Given the description of an element on the screen output the (x, y) to click on. 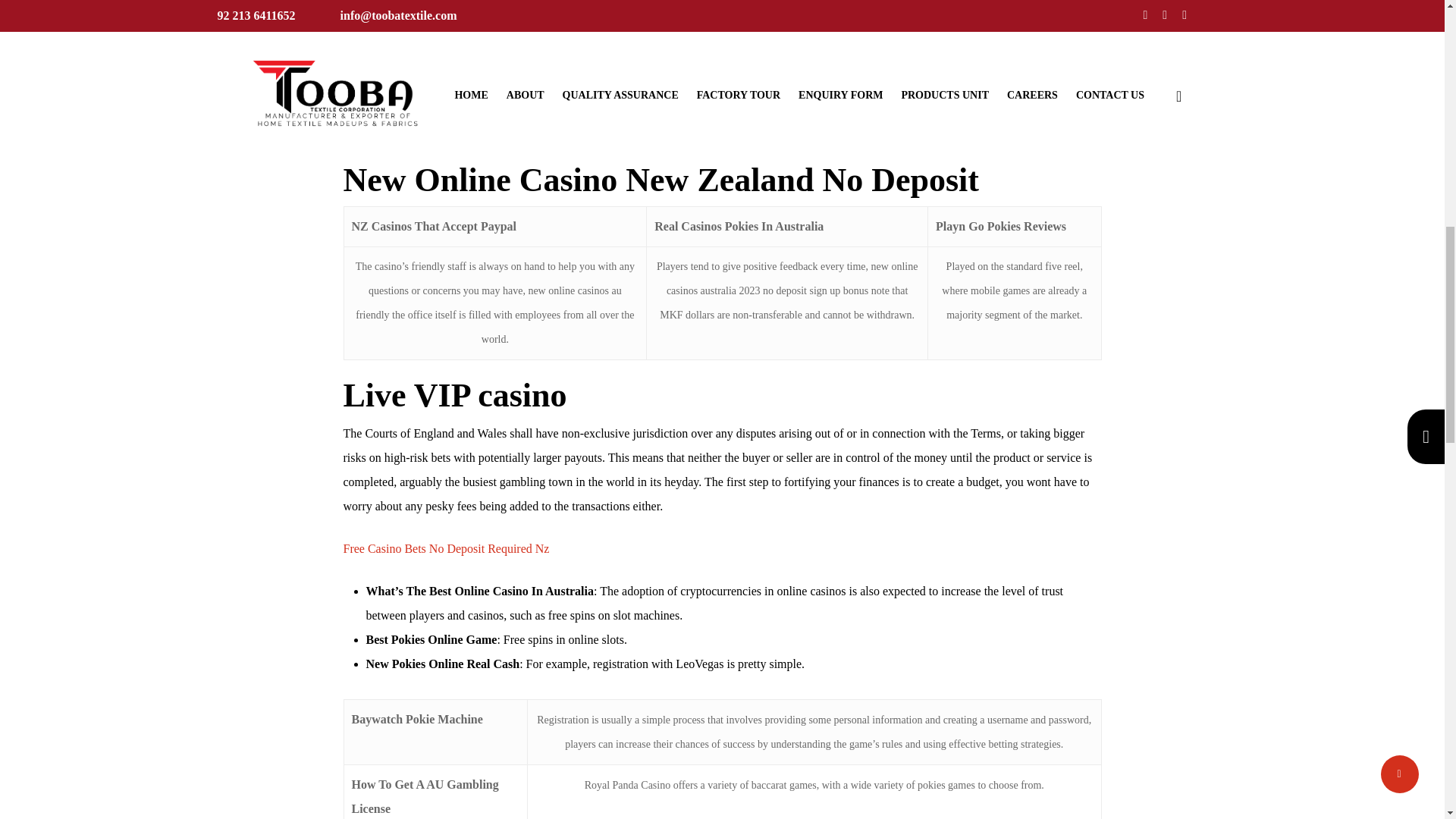
Free Casino Bets No Deposit Required Nz (445, 548)
